Given the description of an element on the screen output the (x, y) to click on. 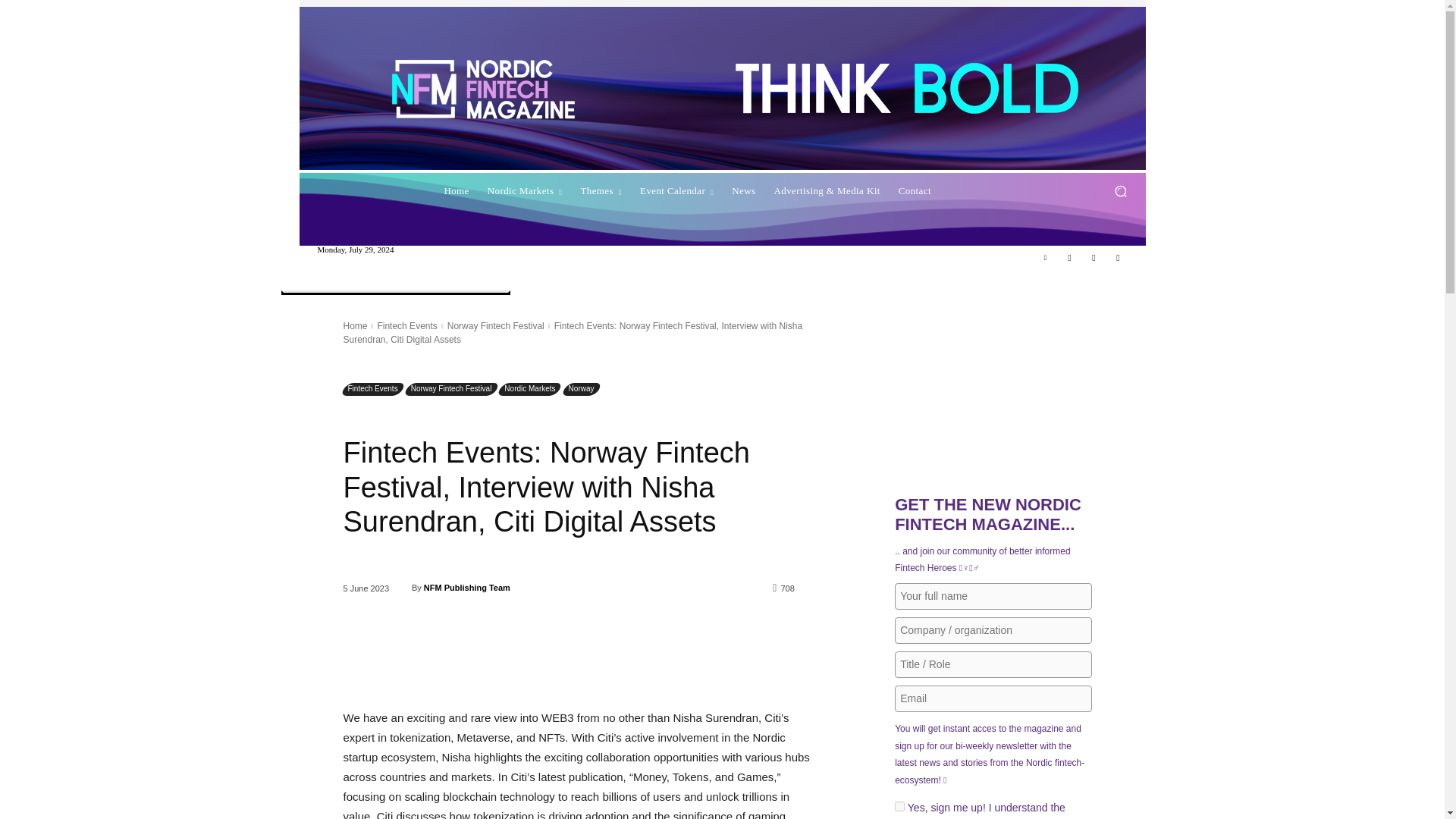
Instagram (1117, 257)
LinkedIn (1044, 257)
View all posts in Fintech Events (406, 326)
RSS (1068, 257)
Youtube (1093, 257)
View all posts in Norway Fintech Festival (495, 326)
